Given the description of an element on the screen output the (x, y) to click on. 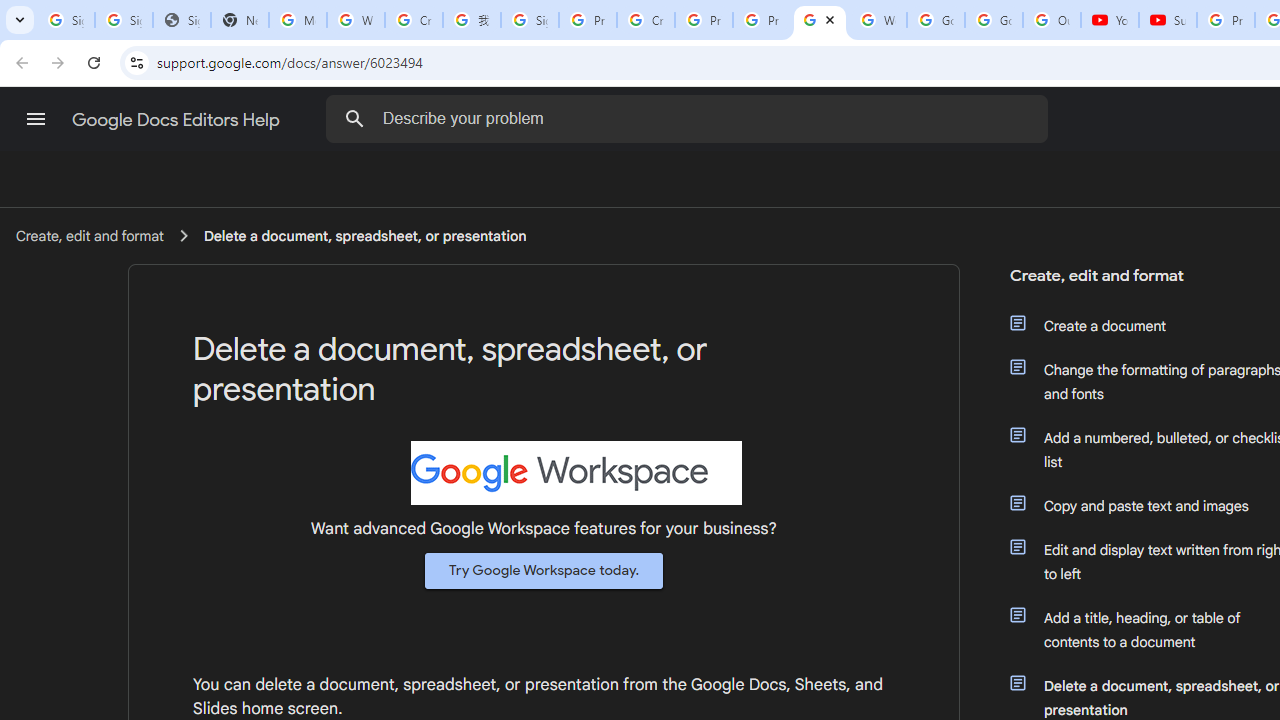
Try Google Workspace today. (543, 570)
Welcome to My Activity (877, 20)
Sign In - USA TODAY (181, 20)
